Given the description of an element on the screen output the (x, y) to click on. 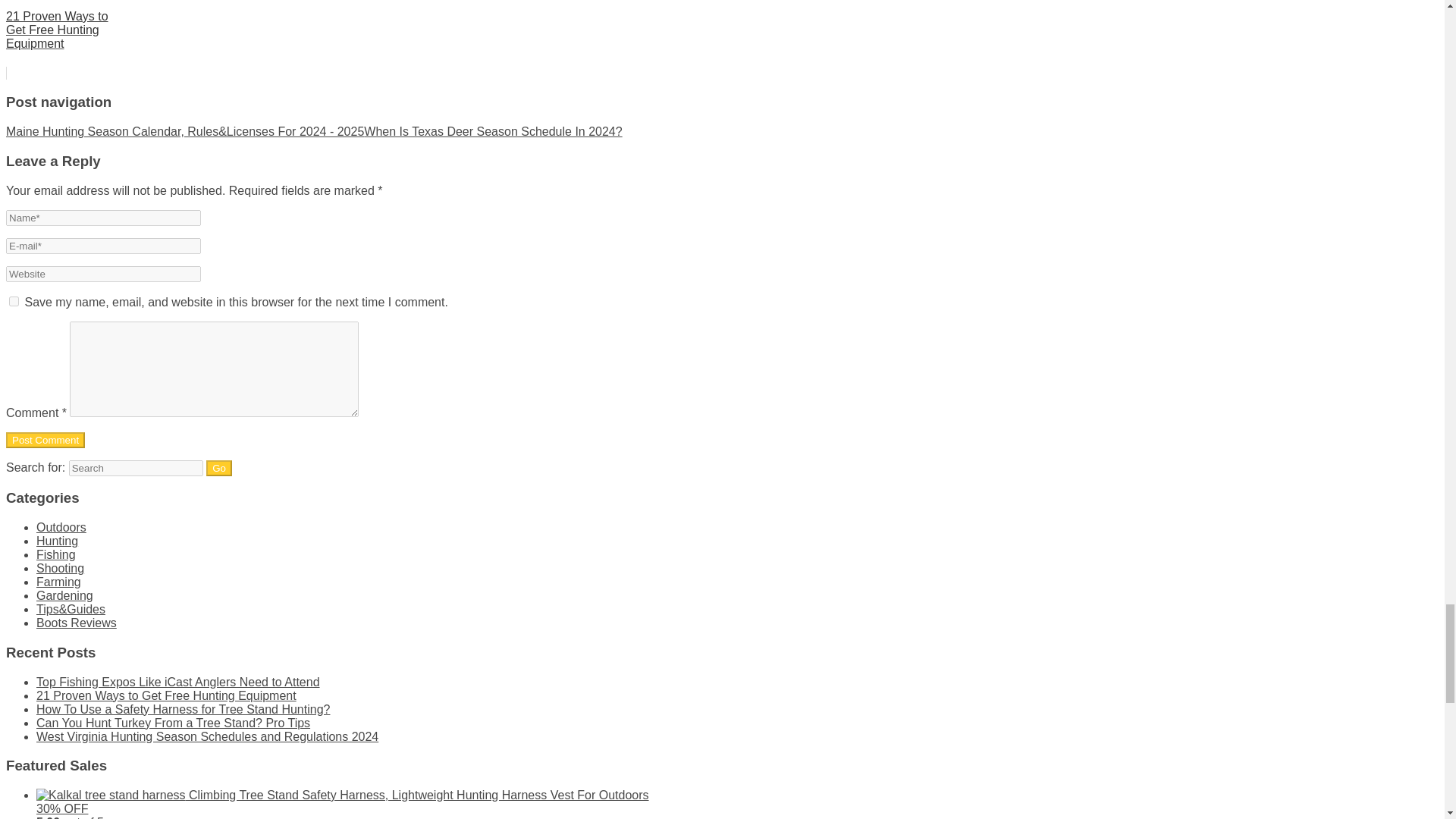
Go (218, 467)
Post Comment (44, 439)
yes (13, 301)
Go (218, 467)
